Given the description of an element on the screen output the (x, y) to click on. 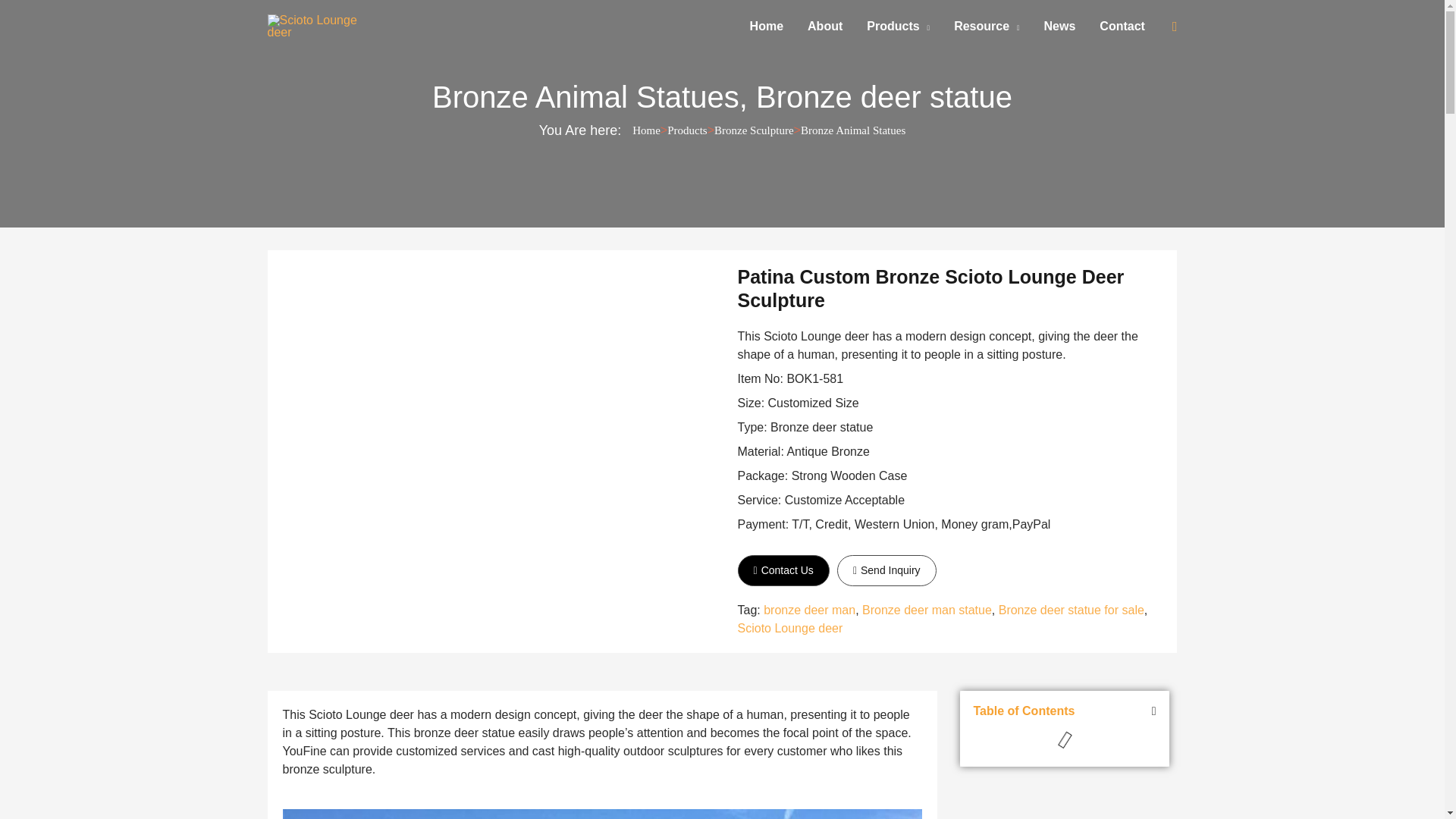
Home (766, 26)
About (824, 26)
Products (898, 26)
